Given the description of an element on the screen output the (x, y) to click on. 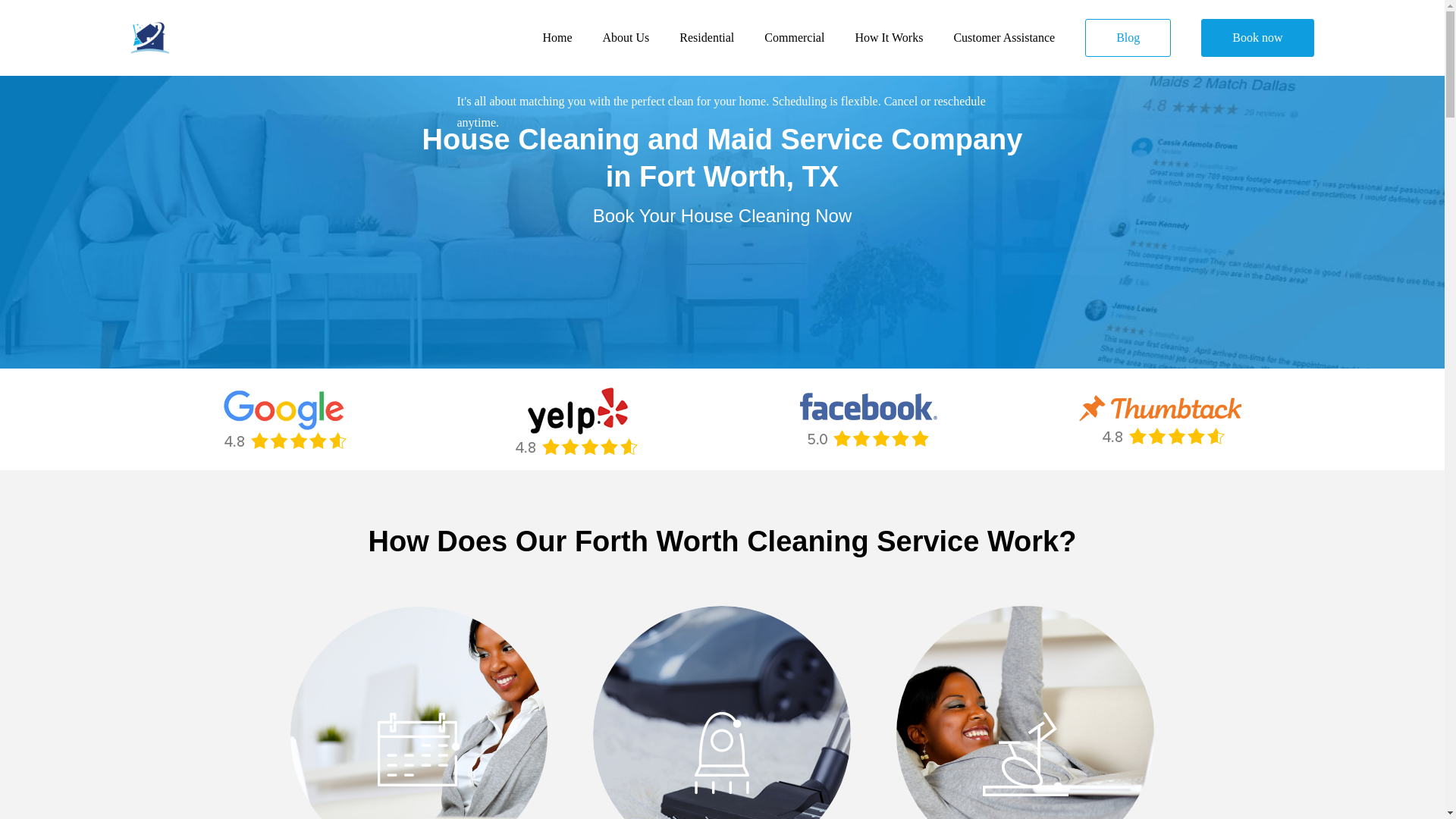
How It Works (888, 37)
Commercial (794, 37)
About Us (625, 37)
Blog (1127, 37)
Book now (1257, 37)
Customer Assistance (1003, 37)
Residential (706, 37)
